Given the description of an element on the screen output the (x, y) to click on. 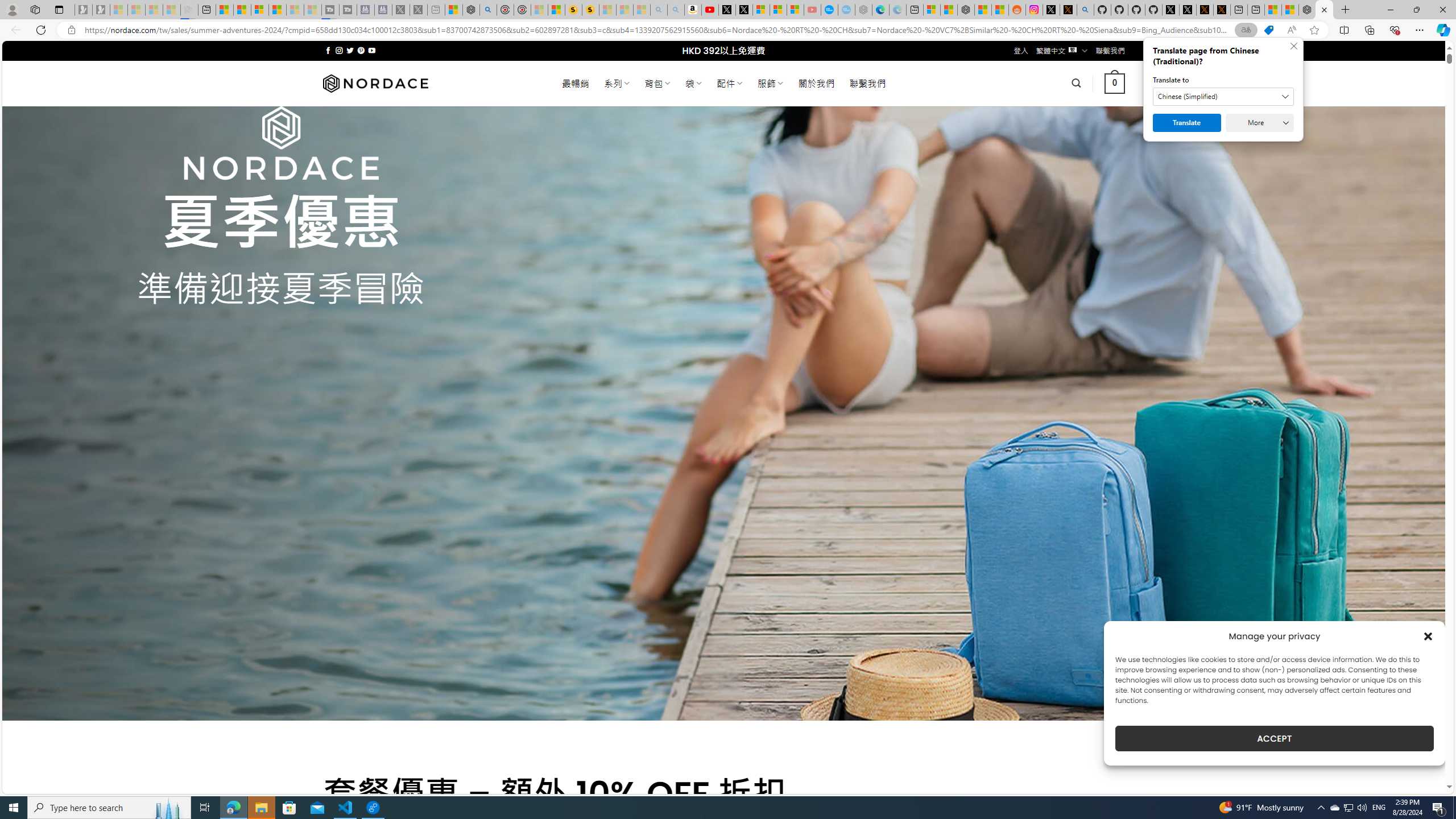
Overview (259, 9)
Opinion: Op-Ed and Commentary - USA TODAY (829, 9)
ACCEPT (1274, 738)
